Given the description of an element on the screen output the (x, y) to click on. 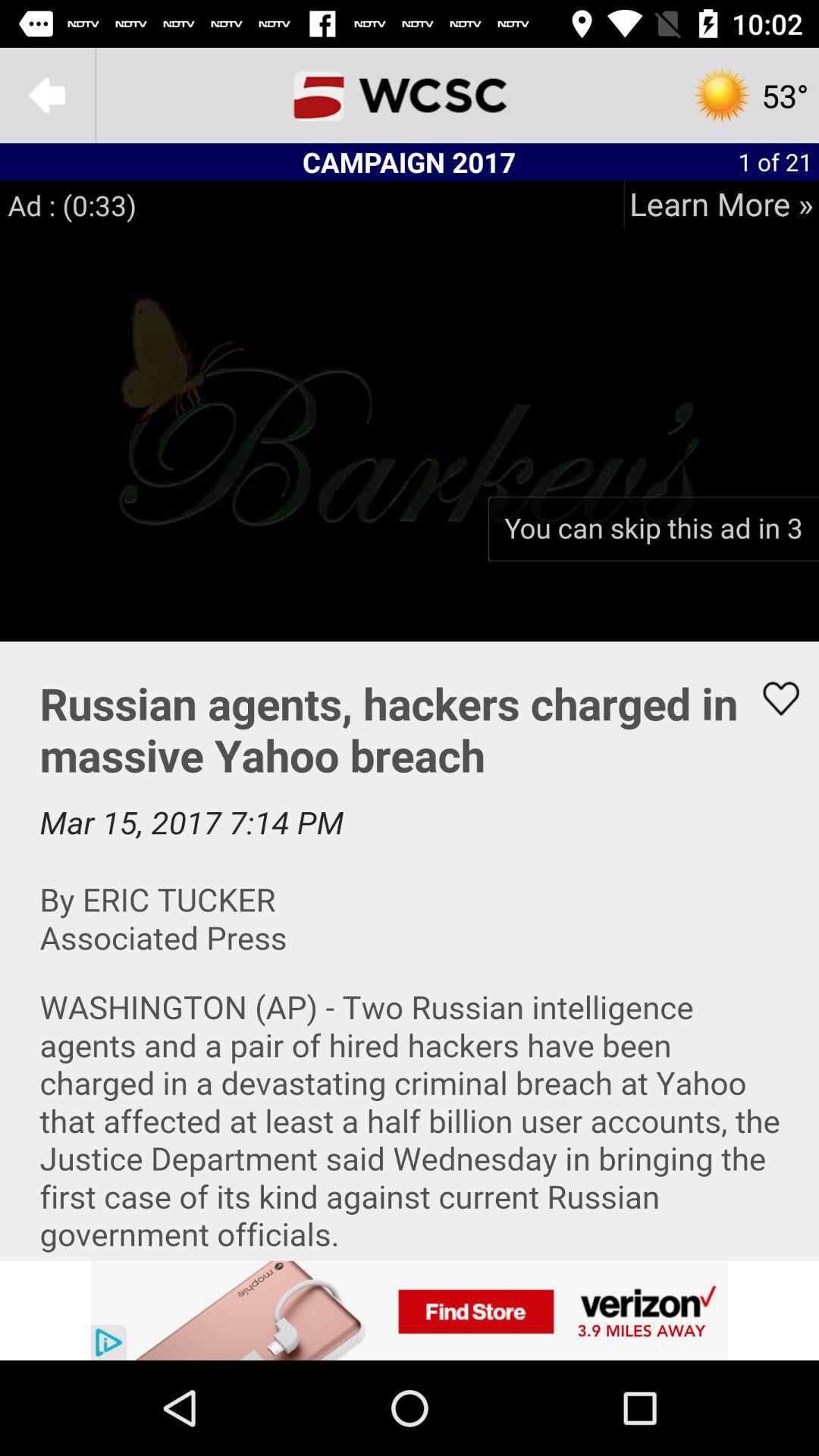
go to password (409, 950)
